Given the description of an element on the screen output the (x, y) to click on. 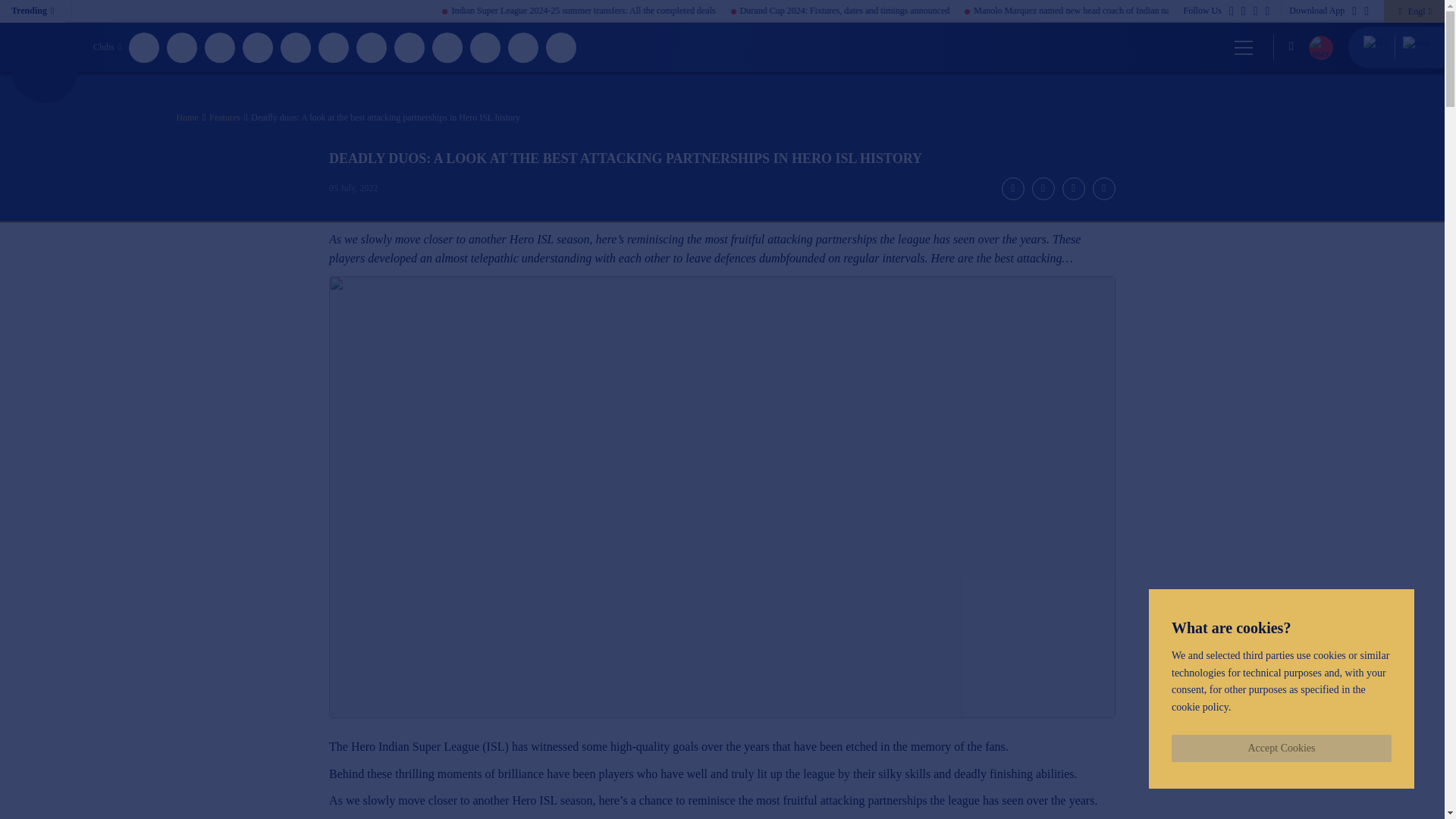
East Bengal FC (219, 46)
FC Goa (258, 46)
Durand Cup 2024: Fixtures, dates and timings announced (933, 11)
Chennaiyin FC (181, 46)
Jamshedpur FC (333, 46)
Hyderabad FC (296, 46)
NorthEast United FC (485, 46)
Odisha FC (523, 46)
Kerala Blasters FC (371, 46)
Bengaluru FC (143, 46)
Manolo Marquez named new head coach of Indian national team (1180, 11)
Punjab FC (561, 46)
Mumbai City FC (447, 46)
Mohun Bagan Super Giant (409, 46)
